Given the description of an element on the screen output the (x, y) to click on. 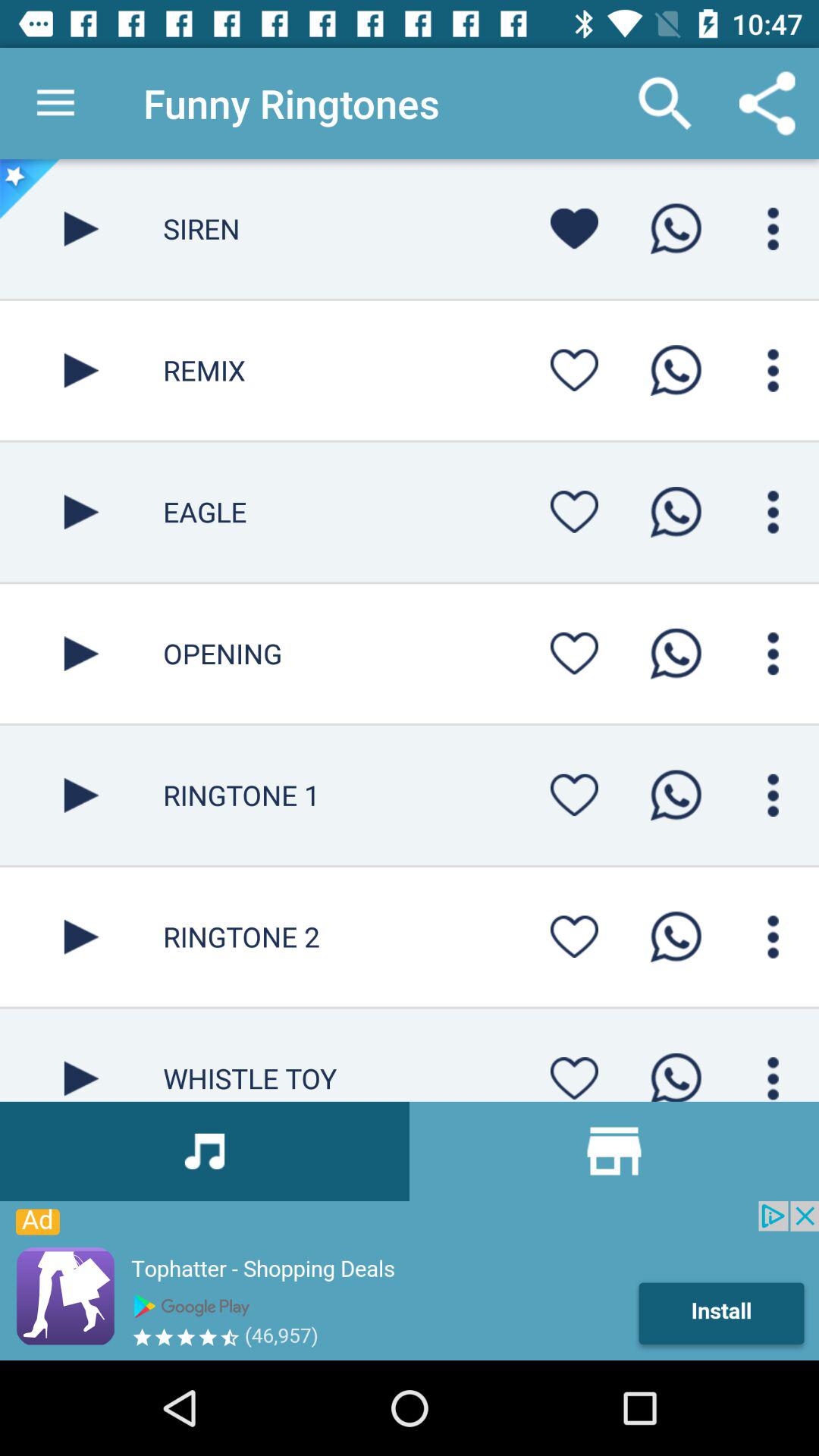
toggle ringtone (675, 1072)
